Given the description of an element on the screen output the (x, y) to click on. 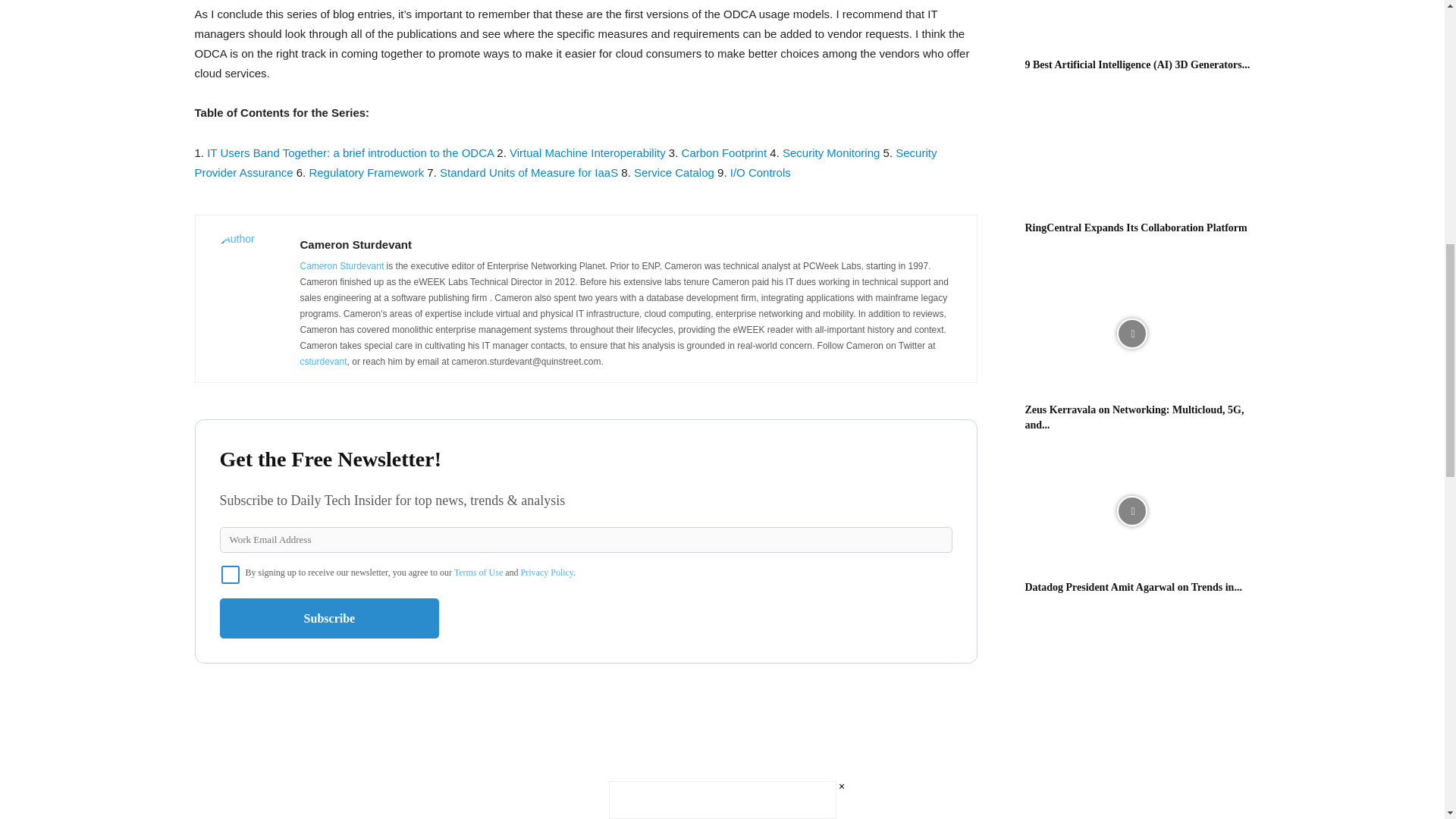
on (230, 574)
RingCentral Expands Its Collaboration Platform (1136, 227)
RingCentral Expands Its Collaboration Platform (1131, 151)
Zeus Kerravala on Networking: Multicloud, 5G, and Automation (1131, 333)
Zeus Kerravala on Networking: Multicloud, 5G, and Automation (1134, 417)
